Given the description of an element on the screen output the (x, y) to click on. 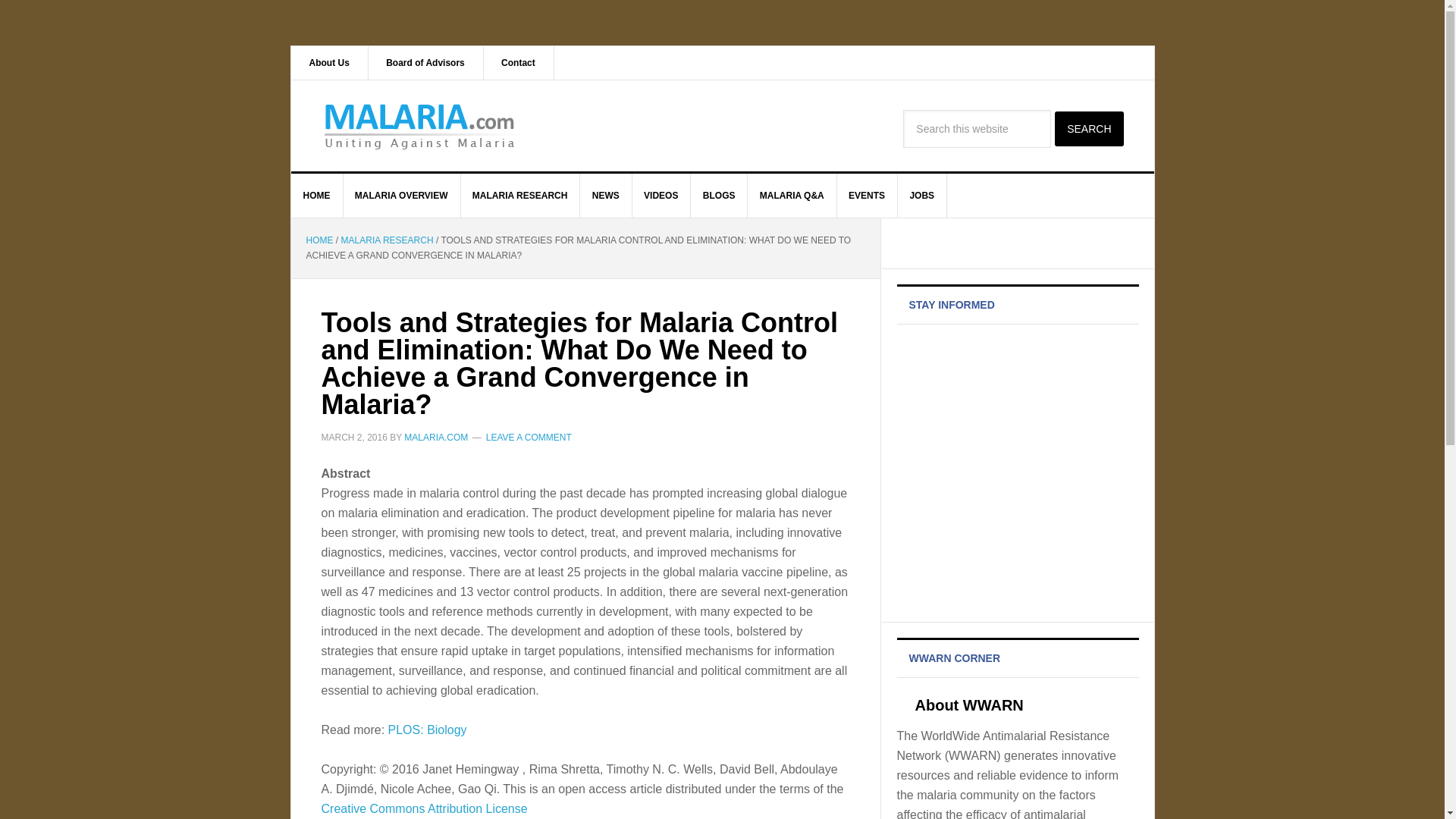
About WWARN (968, 704)
MALARIA OVERVIEW (401, 195)
MALARIA.COM (435, 437)
PLOS: Biology (427, 729)
MALARIA RESEARCH (386, 240)
BLOGS (719, 195)
MALARIA RESEARCH (520, 195)
About Us (329, 62)
Board of Advisors (425, 62)
EVENTS (866, 195)
